Given the description of an element on the screen output the (x, y) to click on. 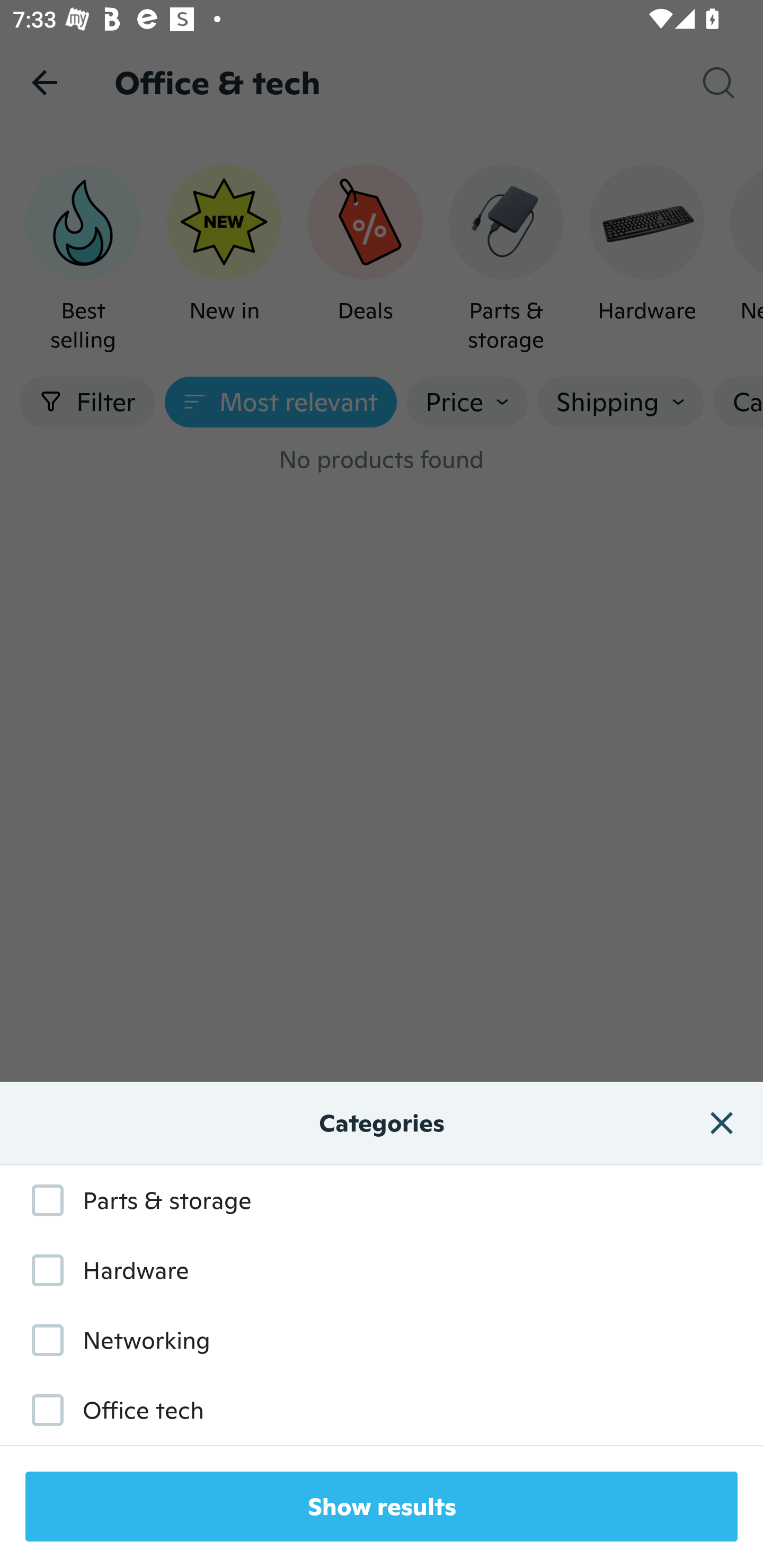
Parts & storage (132, 1200)
Hardware (101, 1269)
Networking (111, 1339)
Office tech (108, 1410)
Show results (381, 1506)
